Given the description of an element on the screen output the (x, y) to click on. 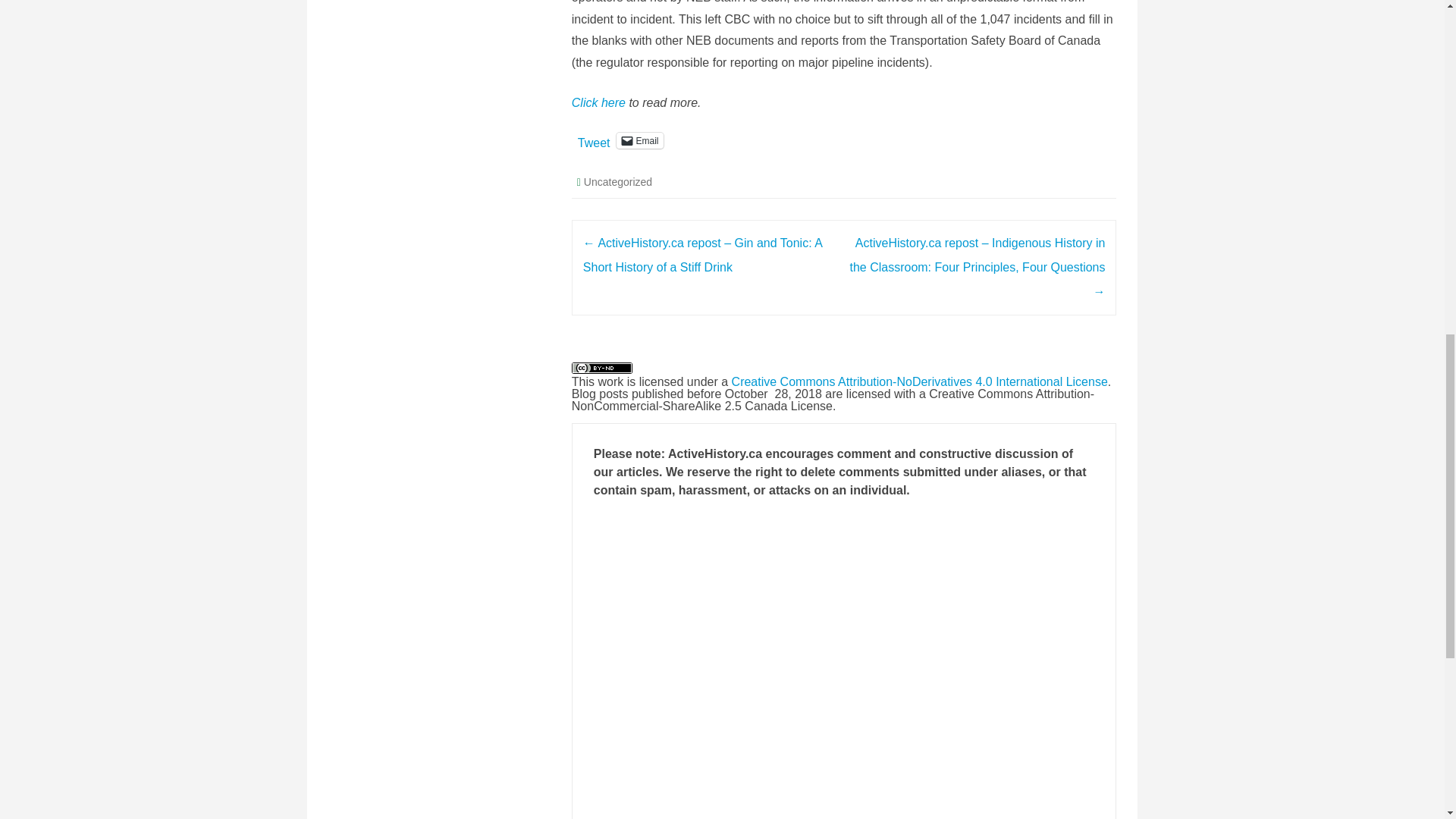
Tweet (594, 139)
Uncategorized (617, 182)
Click here (599, 102)
Email (638, 140)
Click to email a link to a friend (638, 140)
